Given the description of an element on the screen output the (x, y) to click on. 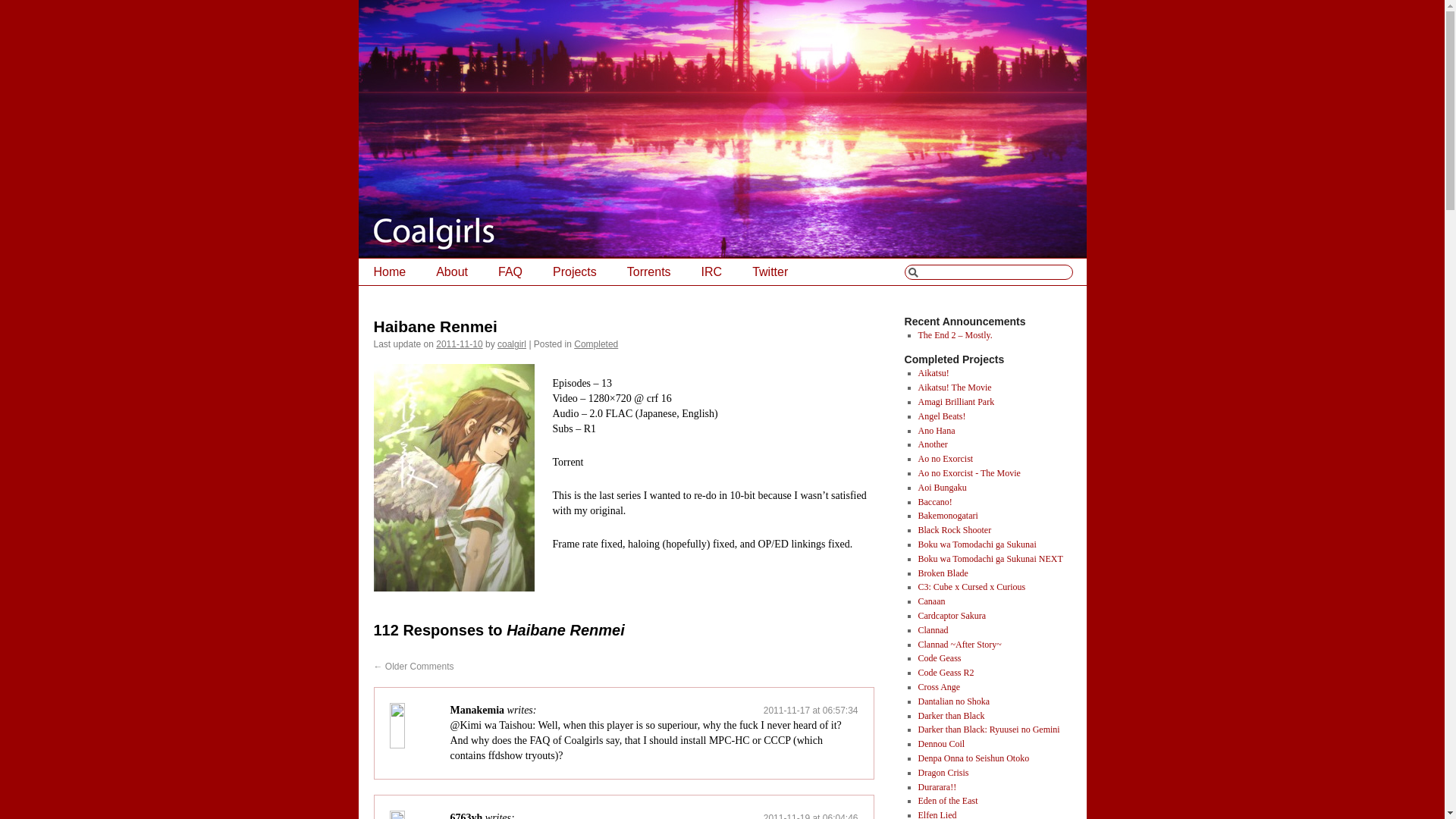
Aikatsu! (933, 372)
IRC, no XDCC bots. (711, 271)
IRC (711, 271)
Twitter (769, 271)
Angel Beats! (941, 416)
Aikatsu! The Movie (954, 387)
21:53:22 (458, 344)
About (451, 271)
2011-11-19 at 06:04:46 (810, 816)
Another (932, 443)
2011-11-17 at 06:57:34 (810, 710)
coalgirl (511, 344)
Home (389, 271)
Projects (574, 271)
Ano Hana (936, 430)
